Given the description of an element on the screen output the (x, y) to click on. 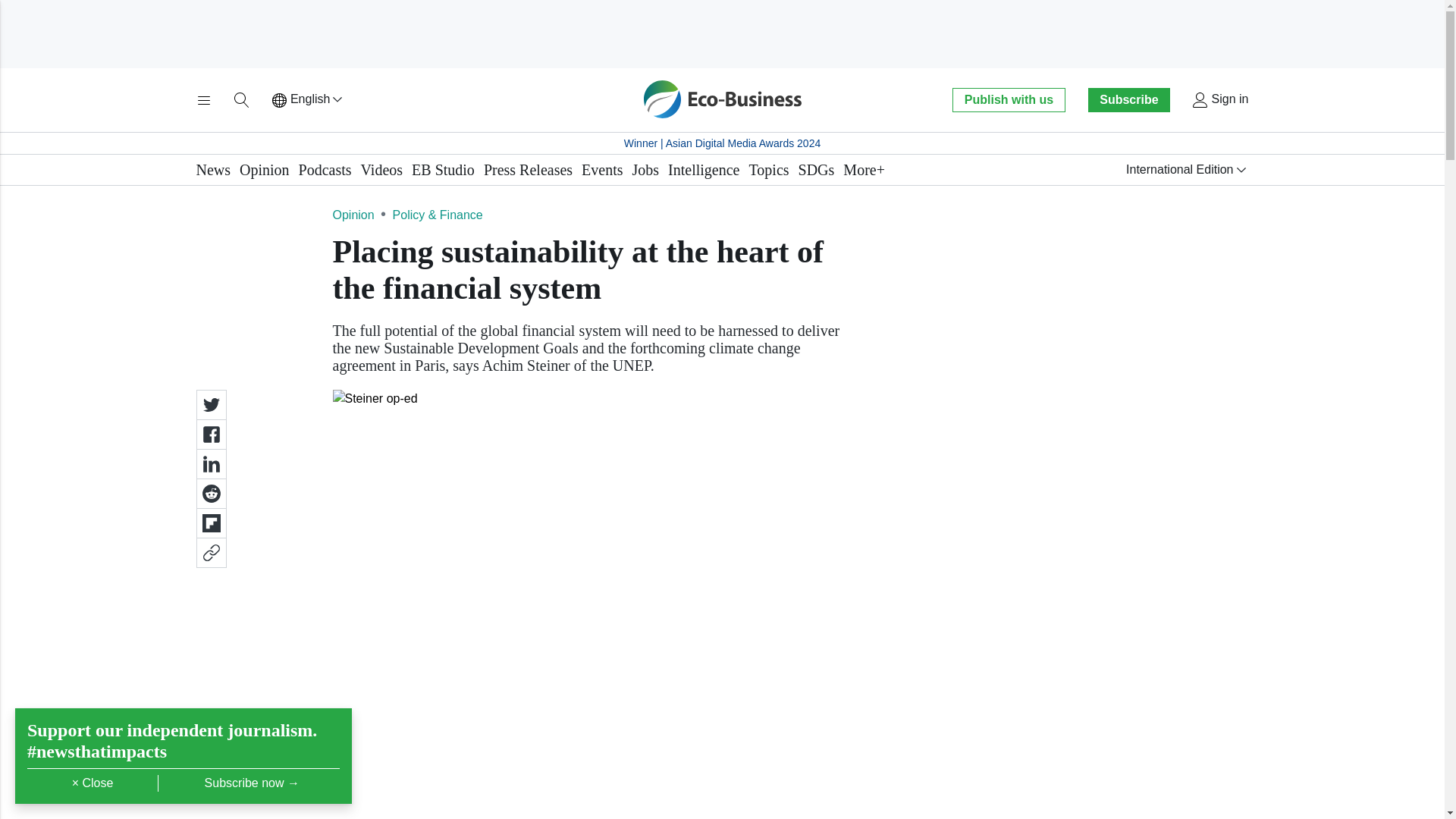
News (212, 169)
Podcasts (325, 169)
Publish with us (1008, 99)
Press Releases (527, 169)
Share on LinkedIn (210, 463)
EB Studio (443, 169)
Share on Facebook (210, 434)
Events (601, 169)
Sign in (1219, 99)
Sign in or sign up (1219, 99)
